Given the description of an element on the screen output the (x, y) to click on. 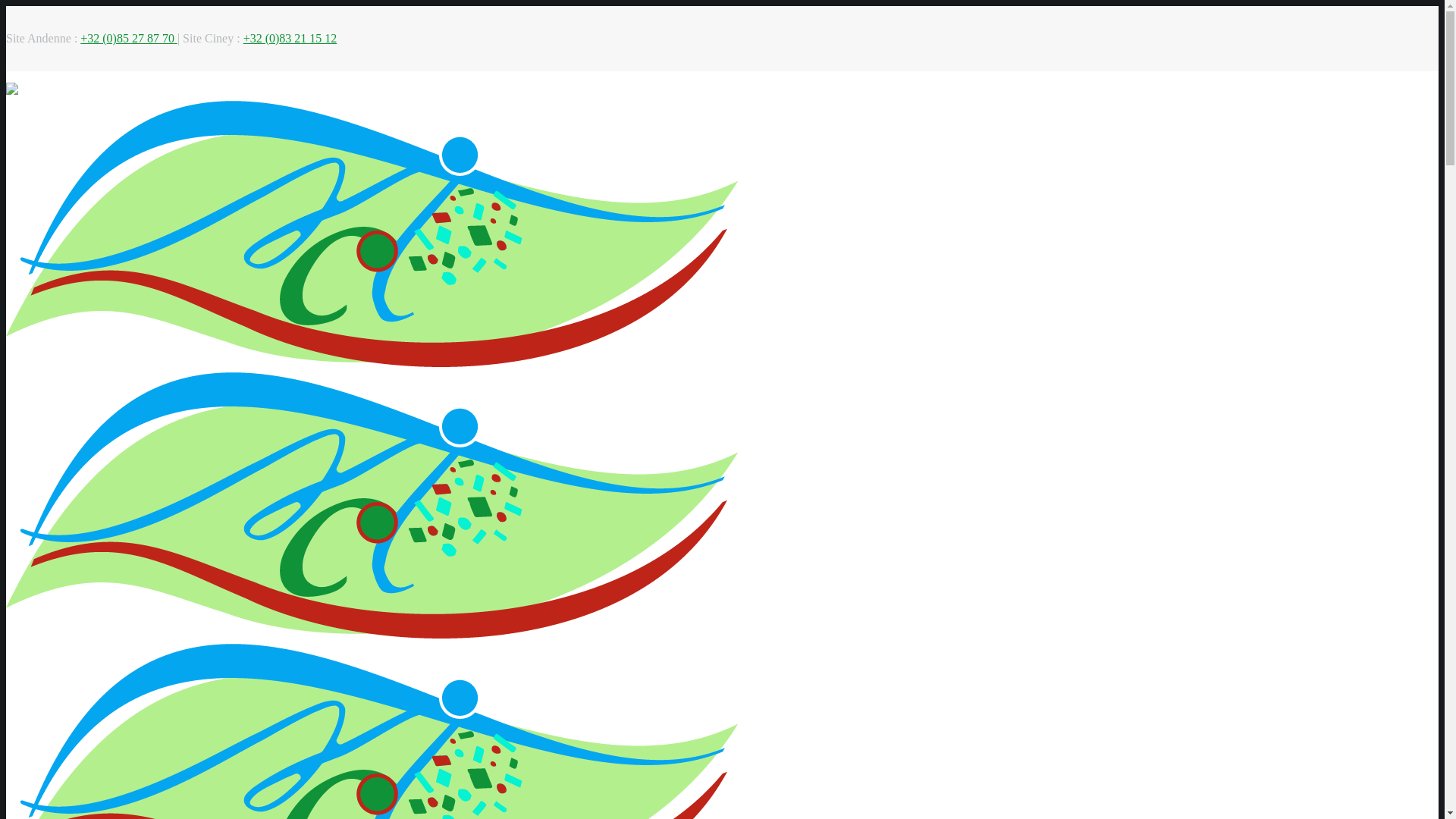
+32 (0)83 21 15 12 Element type: text (290, 37)
+32 (0)85 27 87 70 Element type: text (128, 37)
